Given the description of an element on the screen output the (x, y) to click on. 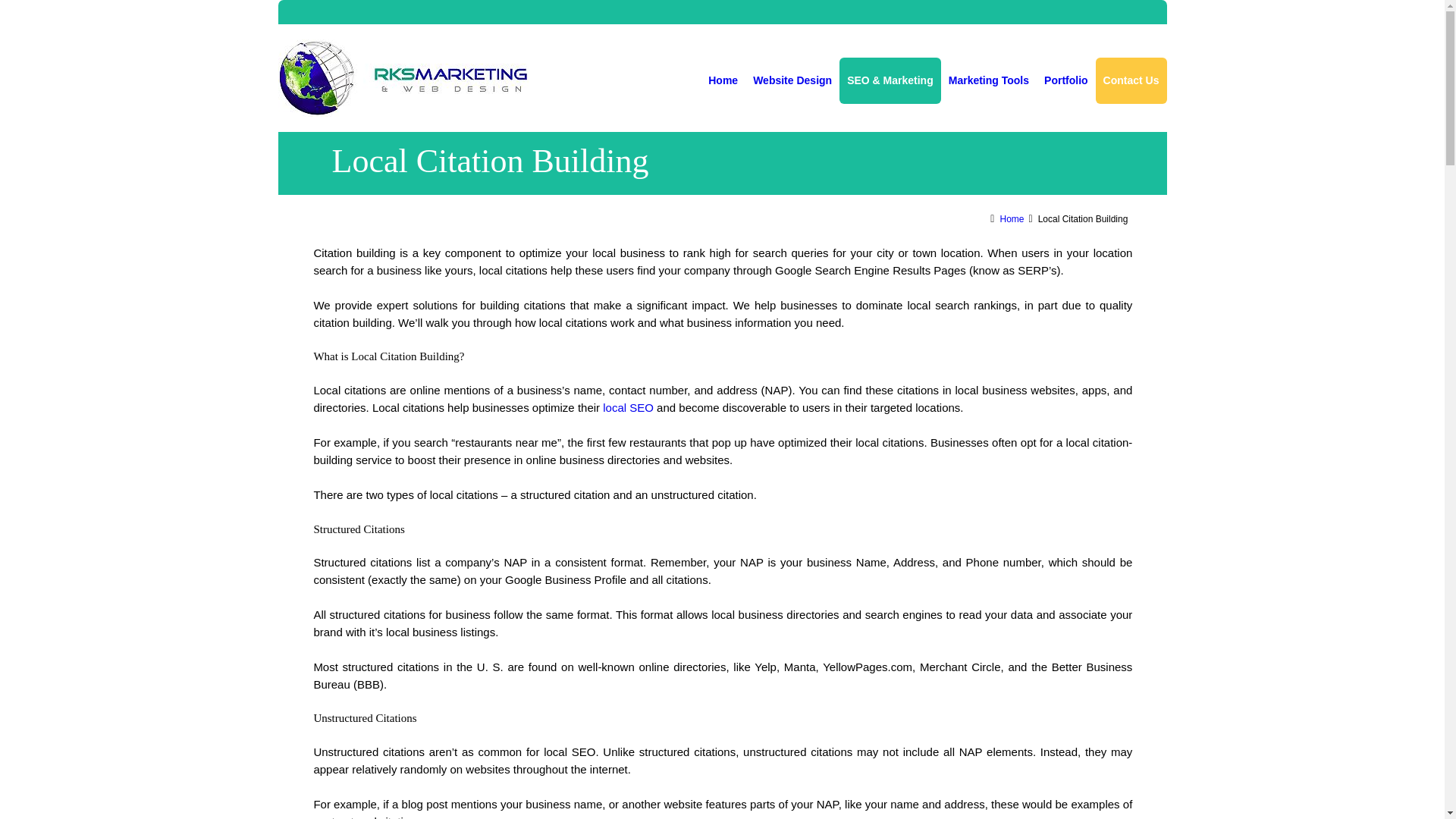
Home (722, 80)
Go back to the homepage (402, 78)
Website Design (792, 80)
local SEO (627, 407)
